Given the description of an element on the screen output the (x, y) to click on. 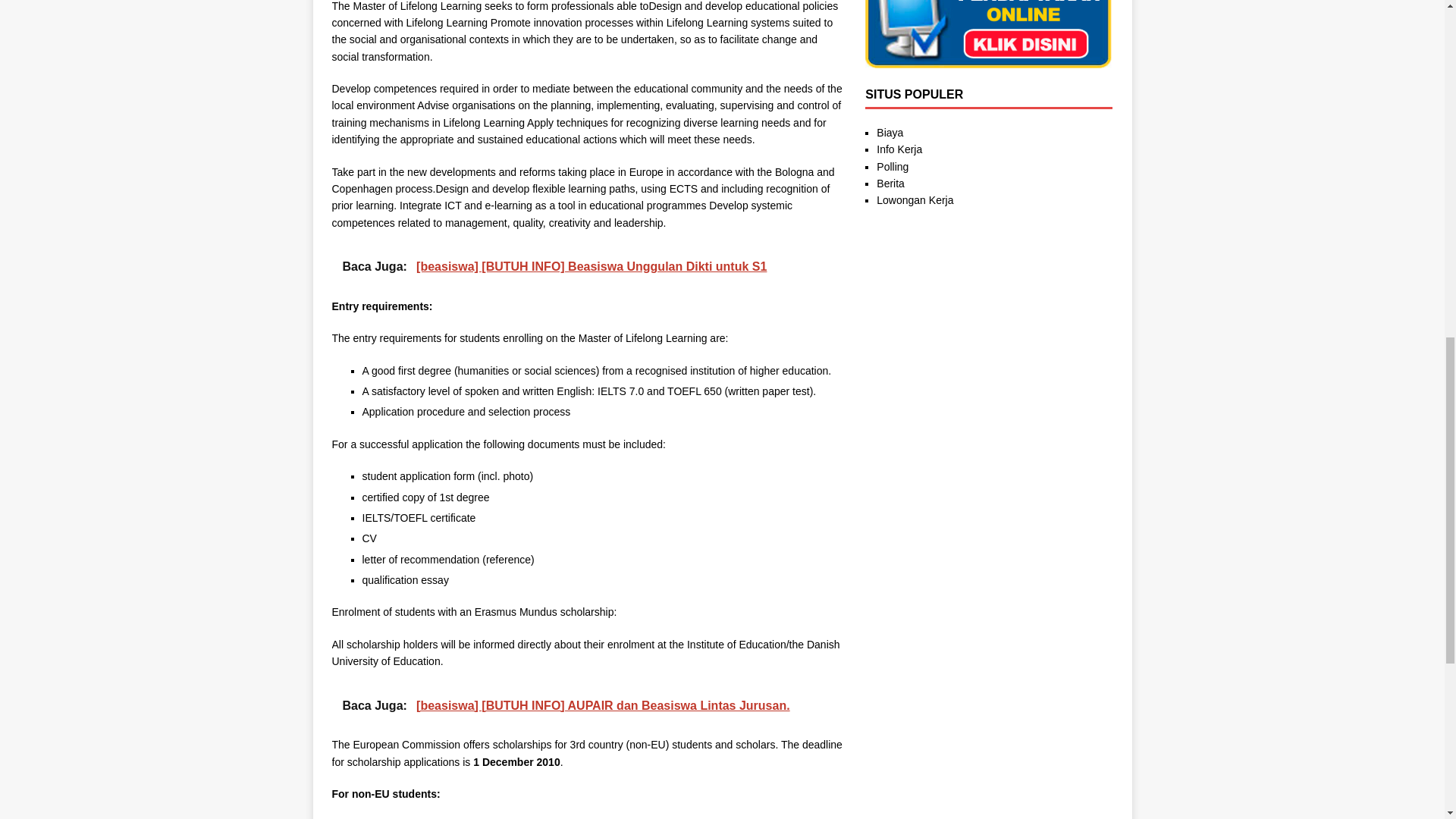
Biaya (889, 132)
Info Kerja (898, 149)
Berita (890, 183)
Lowongan Kerja (914, 200)
Pendaftaran Online (988, 60)
Polling (892, 166)
